Given the description of an element on the screen output the (x, y) to click on. 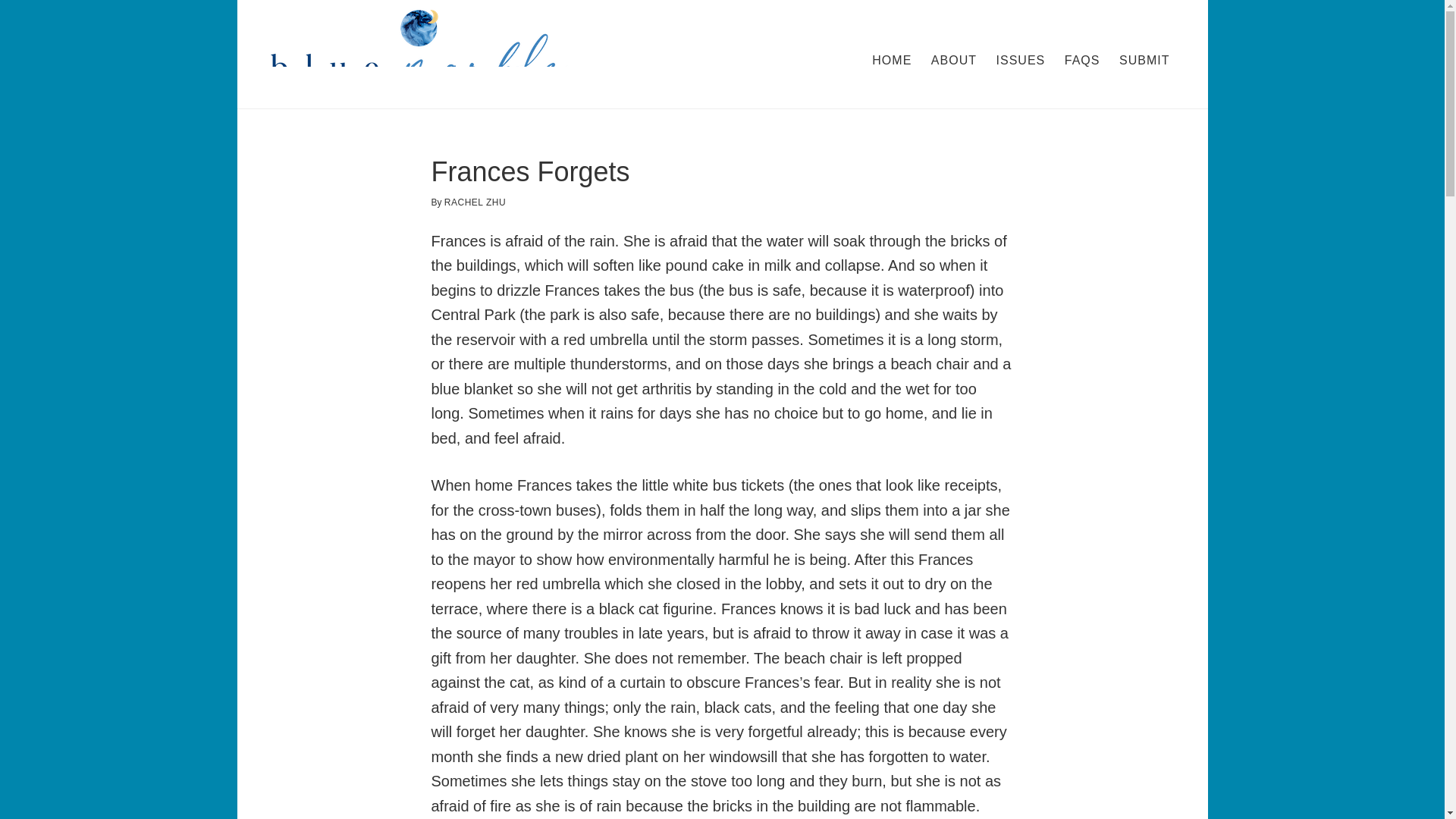
HOME (891, 60)
BLUE MARBLE REVIEW (418, 55)
SUBMIT (1144, 60)
FAQS (1082, 60)
ABOUT (953, 60)
ISSUES (1020, 60)
